Given the description of an element on the screen output the (x, y) to click on. 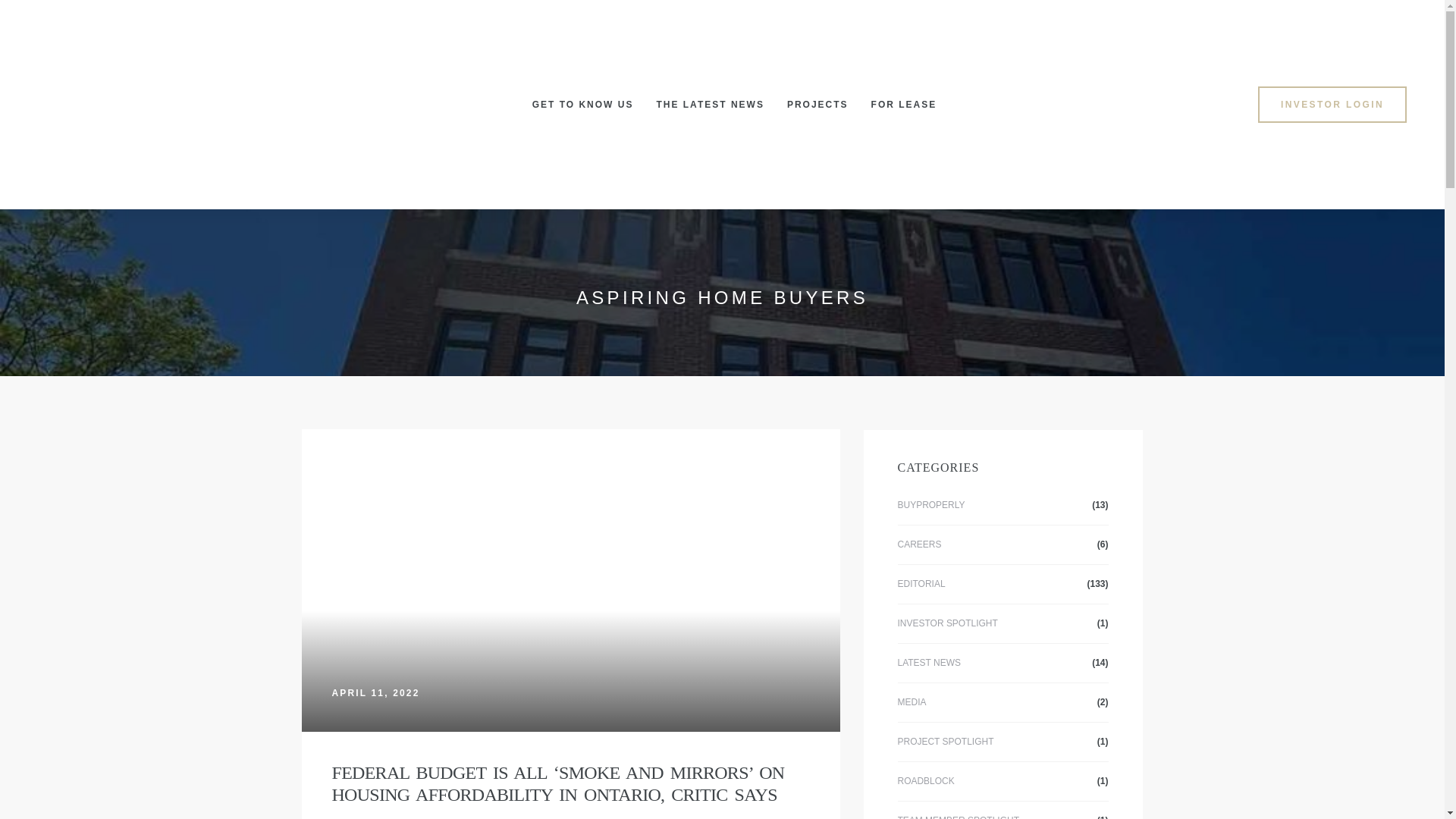
GET TO KNOW US (582, 104)
PROJECTS (817, 104)
APRIL 11, 2022 (375, 692)
FOR LEASE (903, 104)
THE LATEST NEWS (709, 104)
INVESTOR LOGIN (1331, 104)
